Given the description of an element on the screen output the (x, y) to click on. 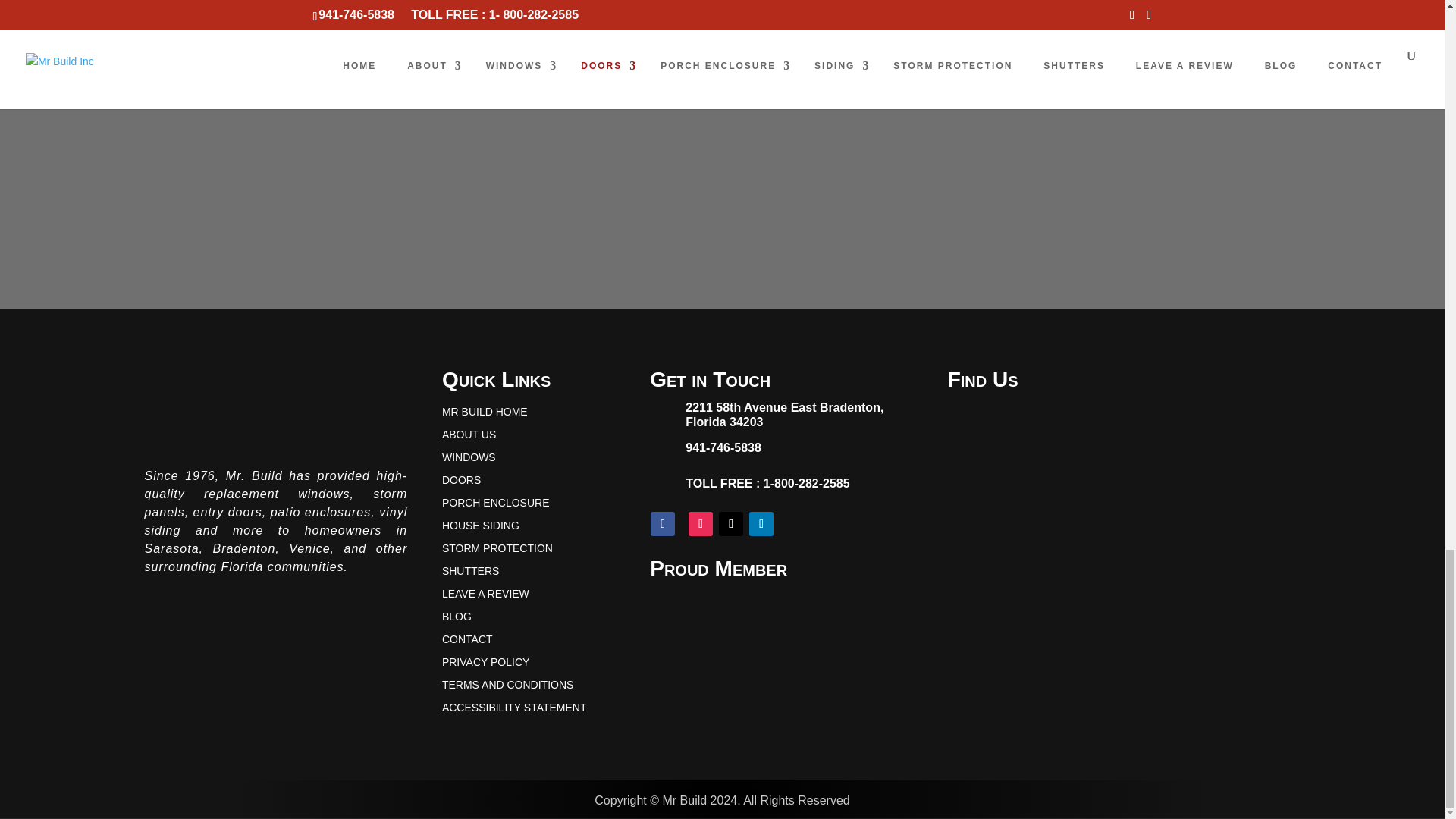
Follow on LinkedIn (761, 523)
Follow on X (730, 523)
Follow on Facebook (662, 523)
MR BUILD HOME (484, 414)
Follow on Instagram (700, 523)
